Given the description of an element on the screen output the (x, y) to click on. 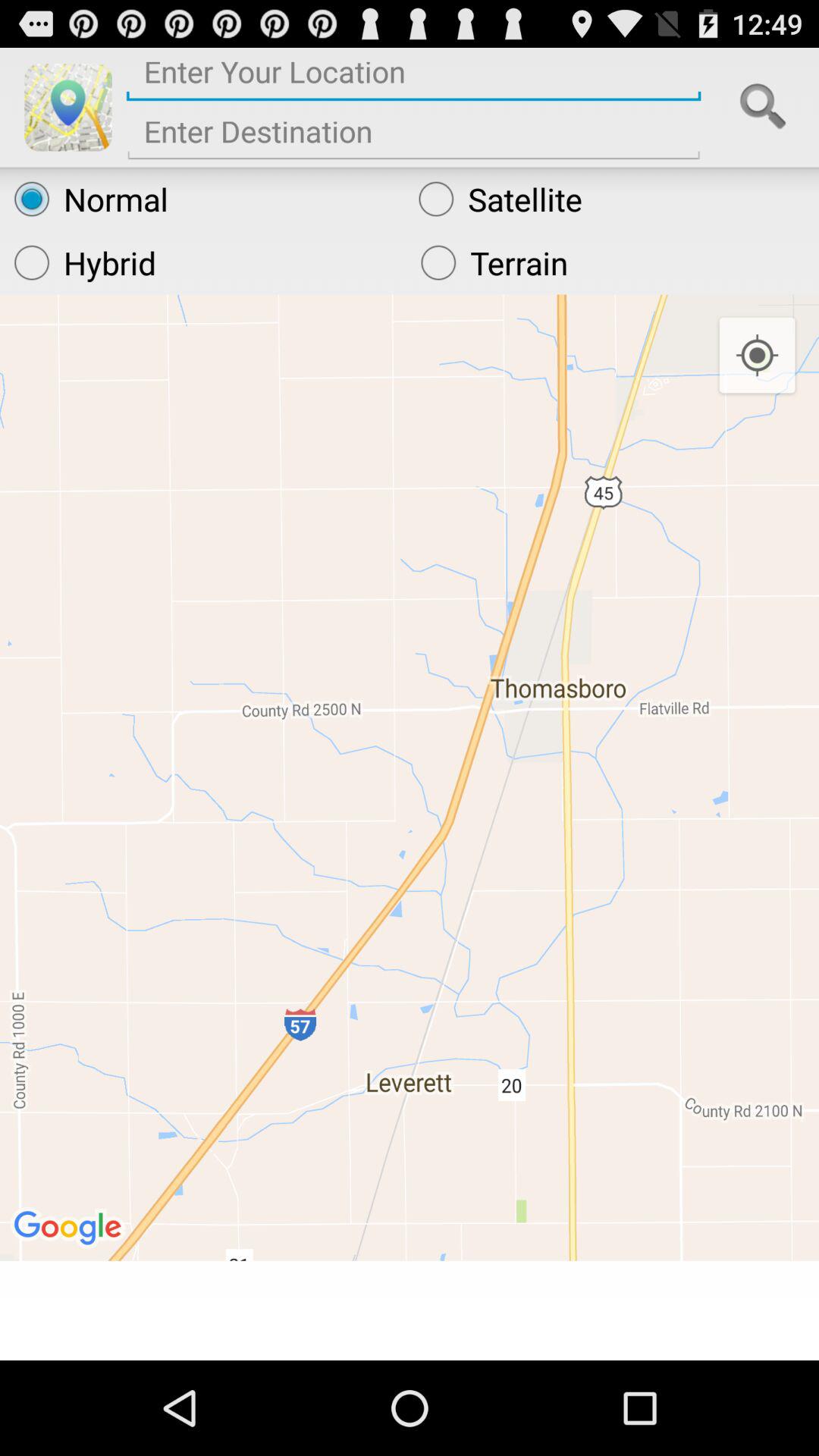
flip until the normal icon (202, 198)
